Given the description of an element on the screen output the (x, y) to click on. 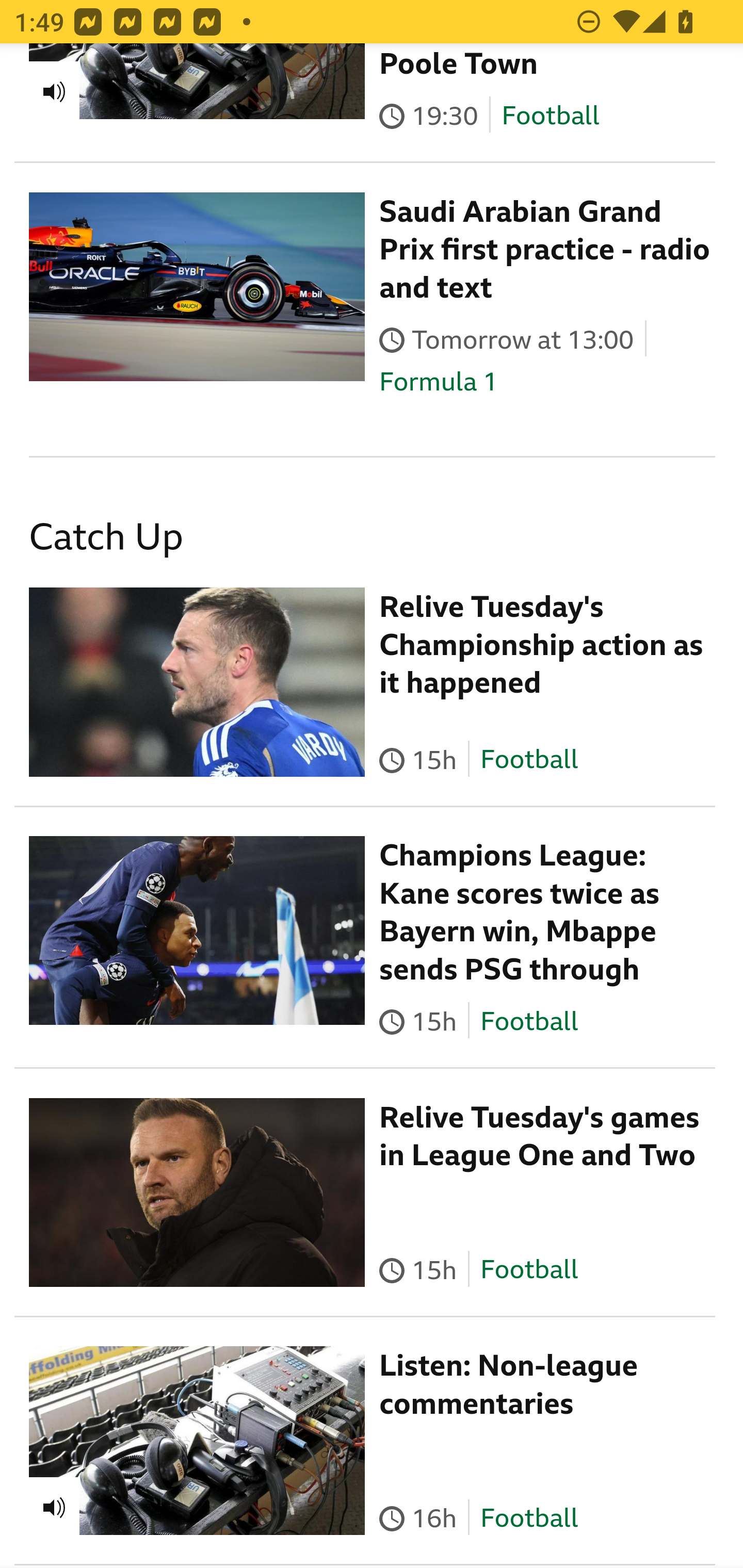
Football (550, 116)
Formula 1 (438, 382)
Football (528, 760)
Football (528, 1021)
Relive Tuesday's games in League One and Two (539, 1137)
Football (528, 1270)
Listen: Non-league commentaries (508, 1385)
Football (528, 1519)
